Given the description of an element on the screen output the (x, y) to click on. 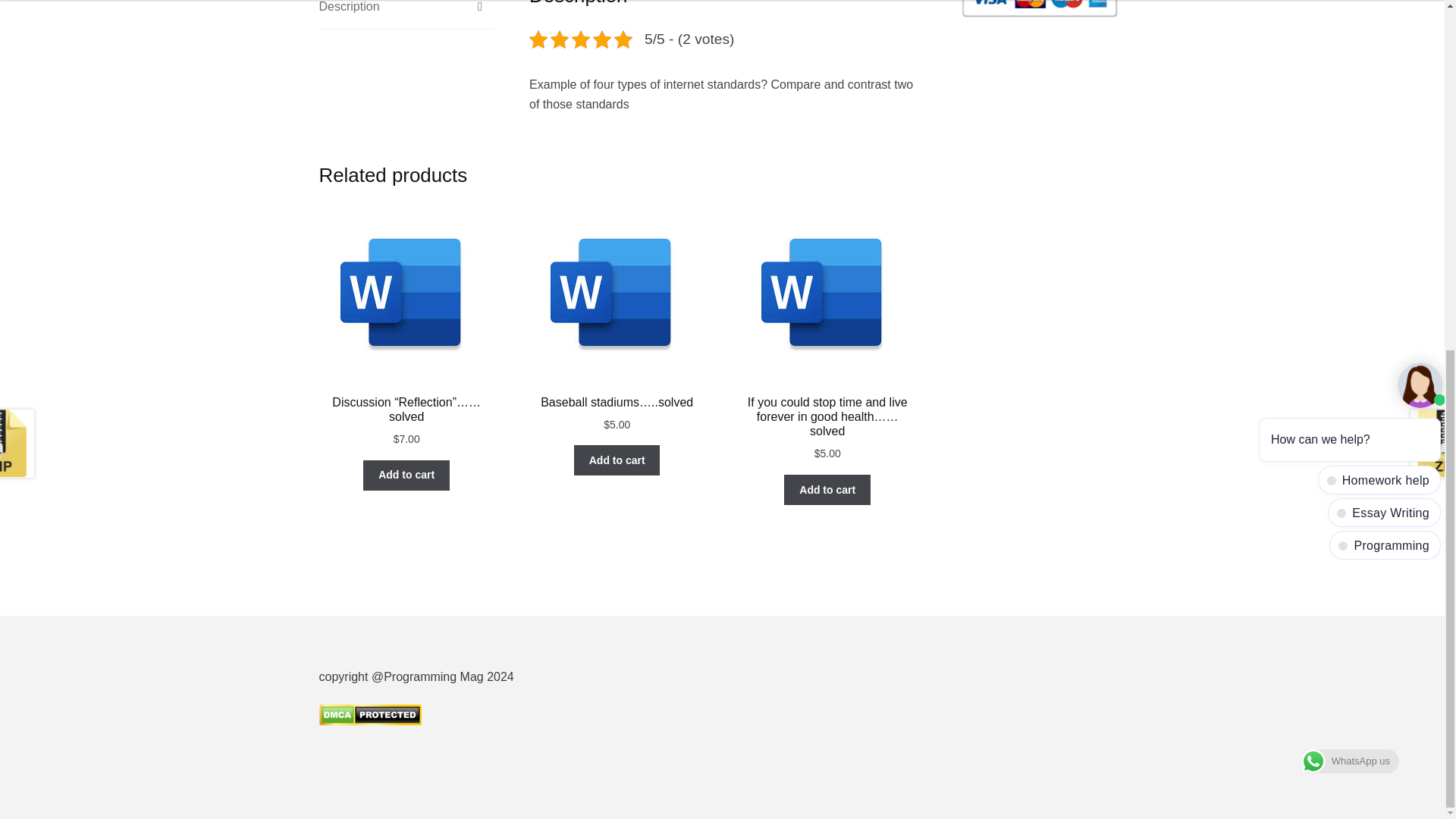
Add to cart (405, 475)
Description (406, 14)
Add to cart (617, 460)
Add to cart (827, 490)
